Given the description of an element on the screen output the (x, y) to click on. 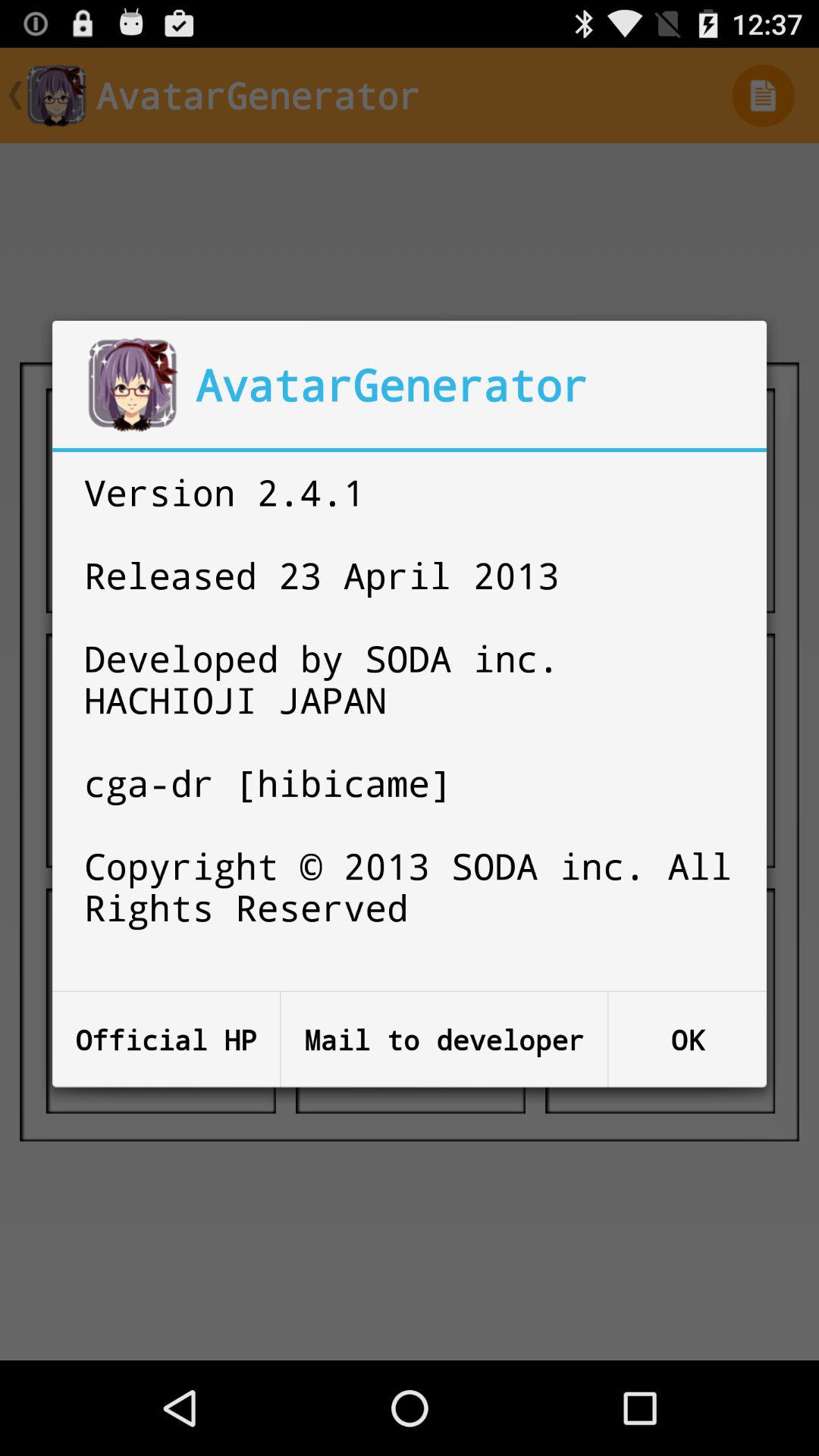
launch the official hp (165, 1039)
